Given the description of an element on the screen output the (x, y) to click on. 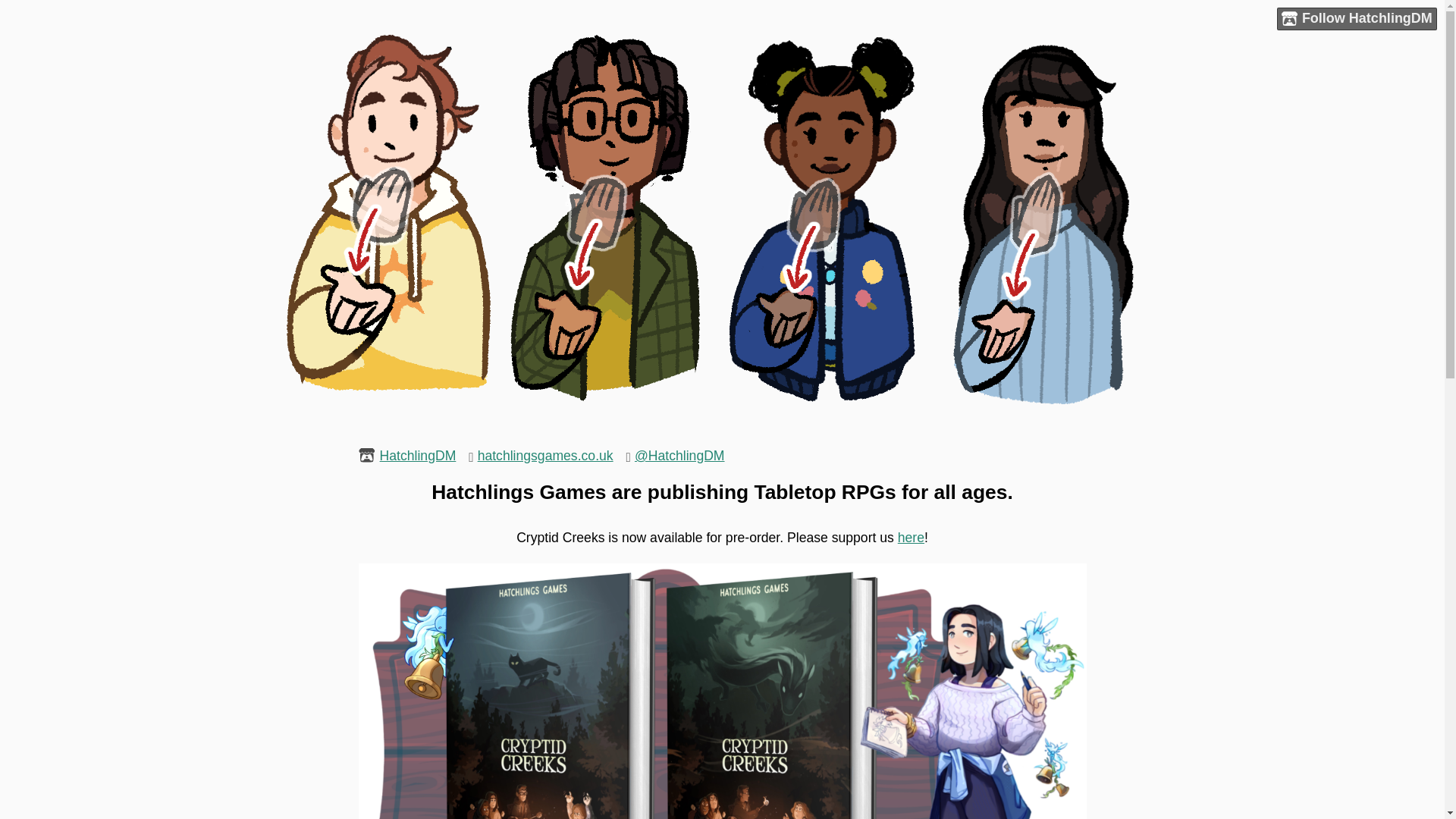
Follow HatchlingDM (1356, 18)
hatchlingsgames.co.uk (544, 455)
here (911, 537)
HatchlingDM (418, 455)
